Given the description of an element on the screen output the (x, y) to click on. 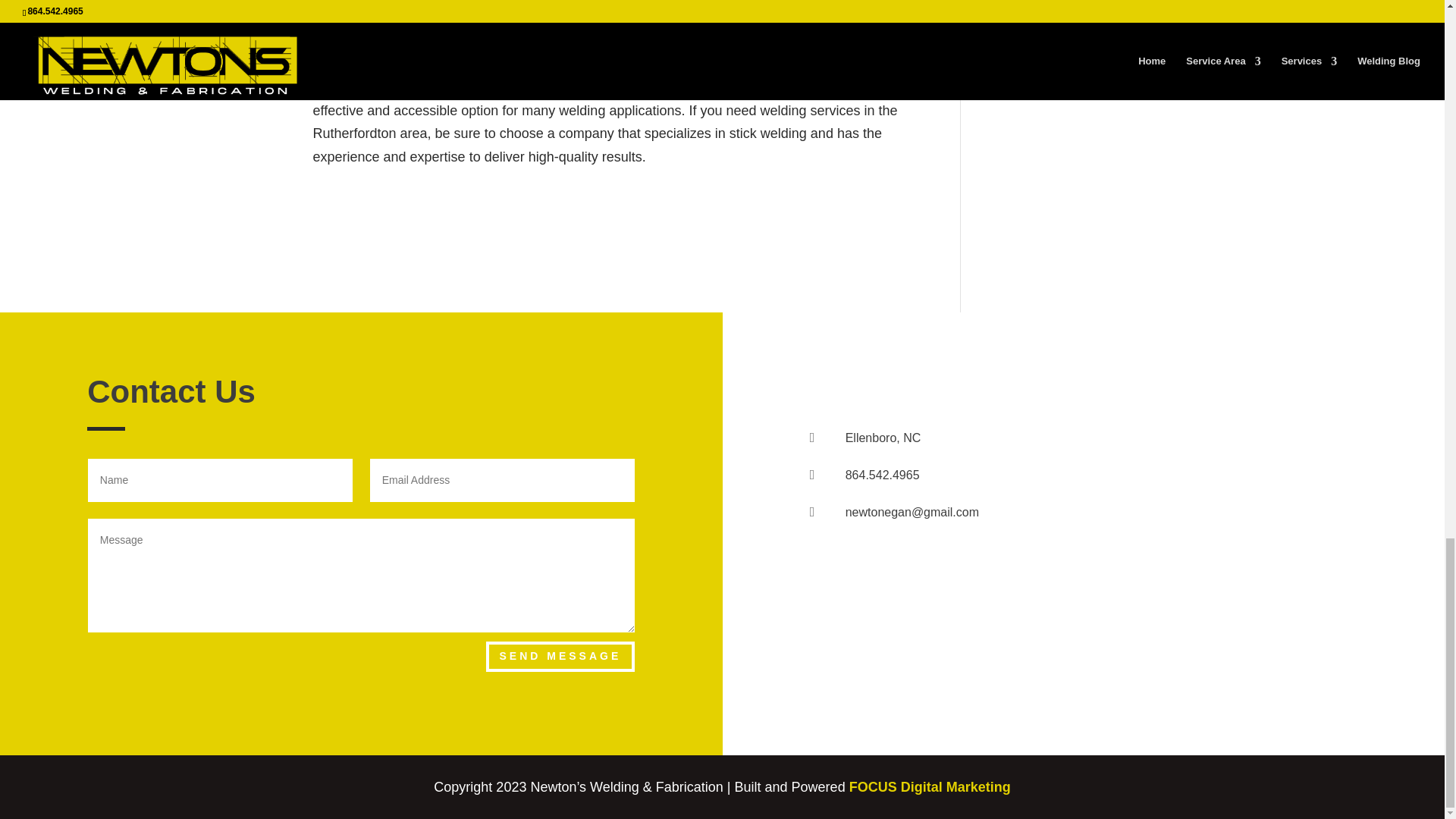
SEND MESSAGE (559, 656)
864.542.4965 (882, 474)
FOCUS Digital Marketing (929, 786)
